Given the description of an element on the screen output the (x, y) to click on. 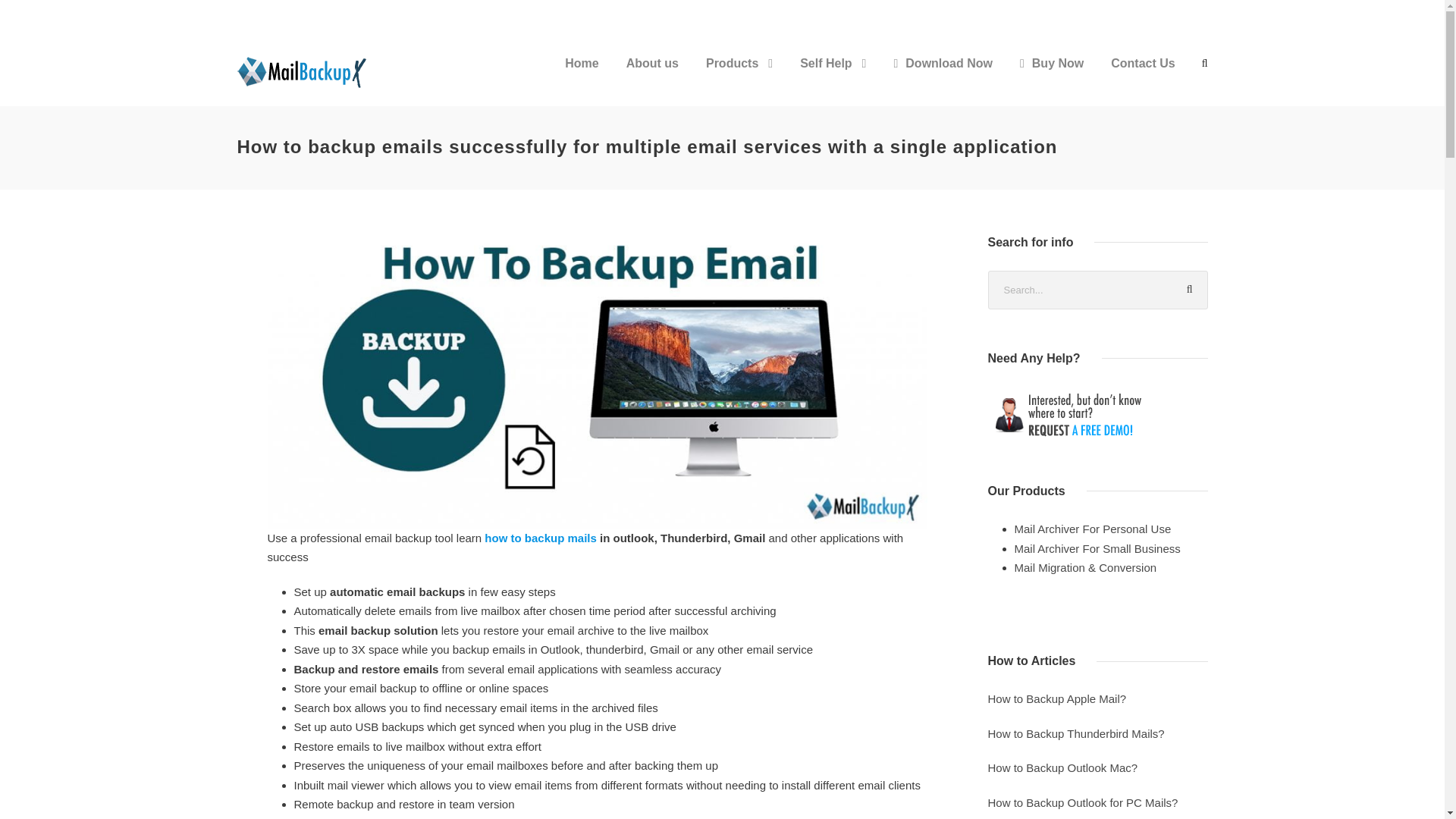
About us (652, 76)
Buy Now (1051, 76)
Search (1188, 290)
Mail Archiver For Small Business (1097, 548)
Mail Archiver For Personal Use (1093, 528)
Request a Live Demo by our Experts (1097, 414)
Download Now (942, 76)
Self Help (832, 76)
mailbackupx-logo (303, 71)
Contact Us (1142, 76)
